Given the description of an element on the screen output the (x, y) to click on. 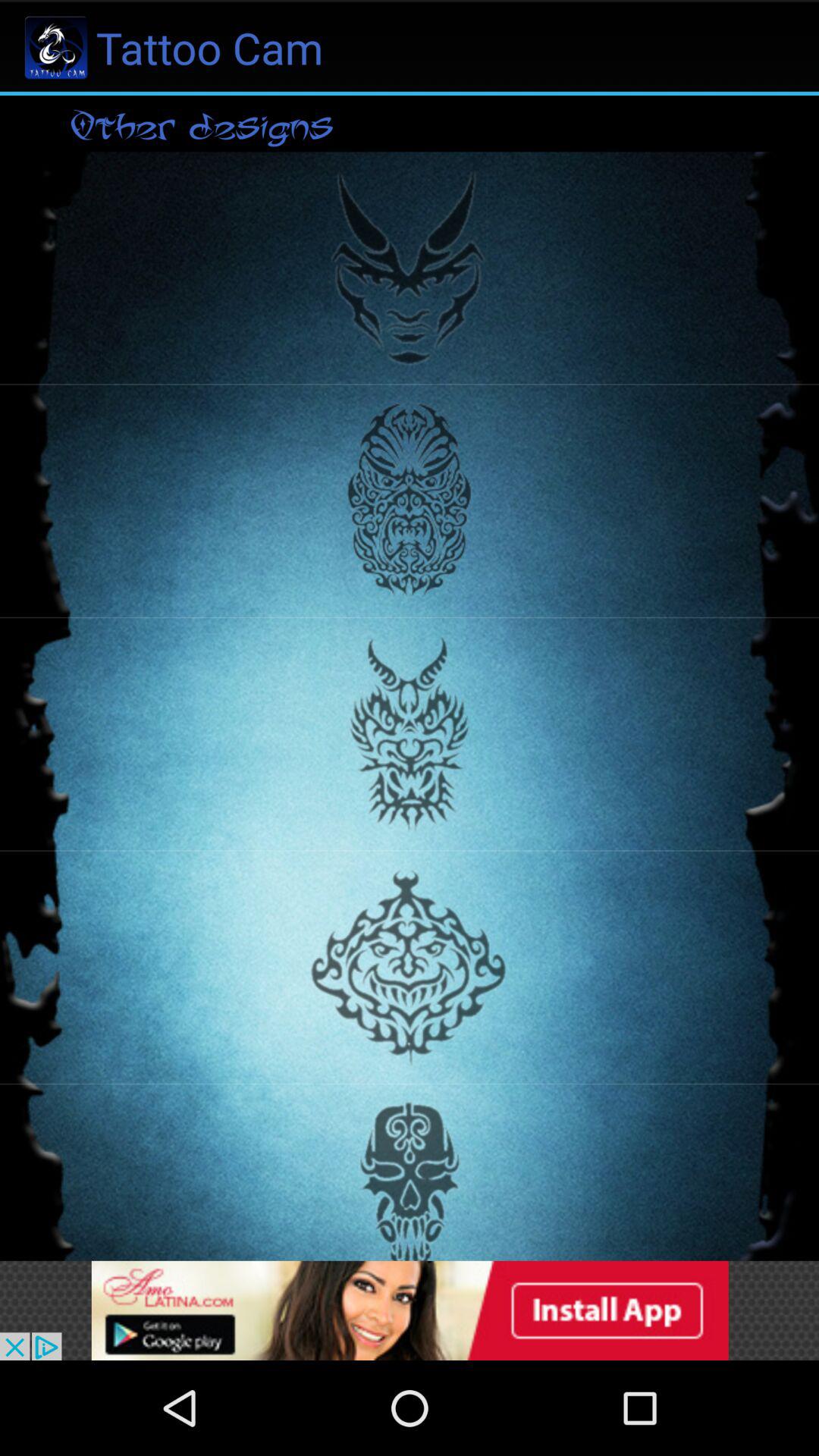
add icone (409, 1310)
